Given the description of an element on the screen output the (x, y) to click on. 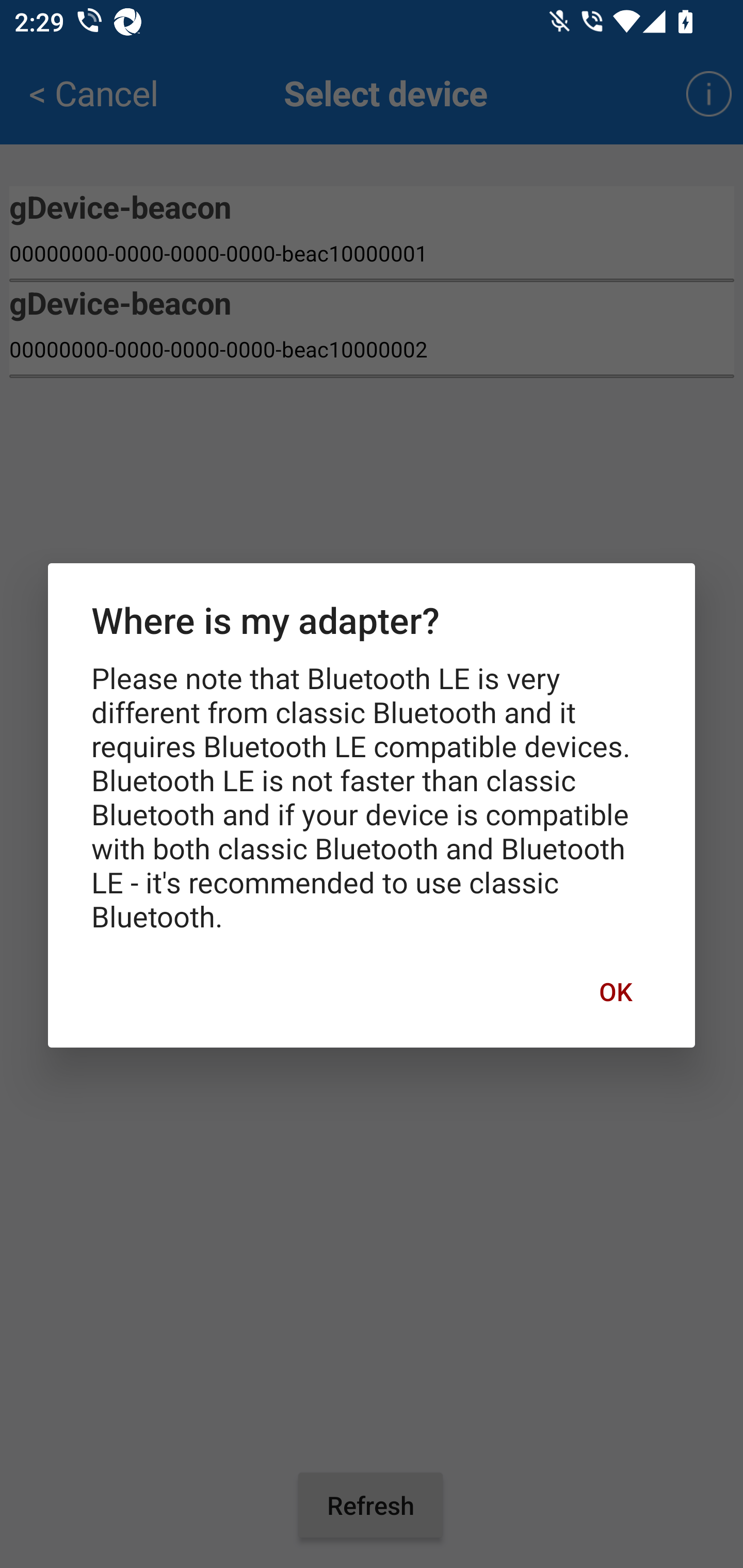
OK (615, 990)
